Given the description of an element on the screen output the (x, y) to click on. 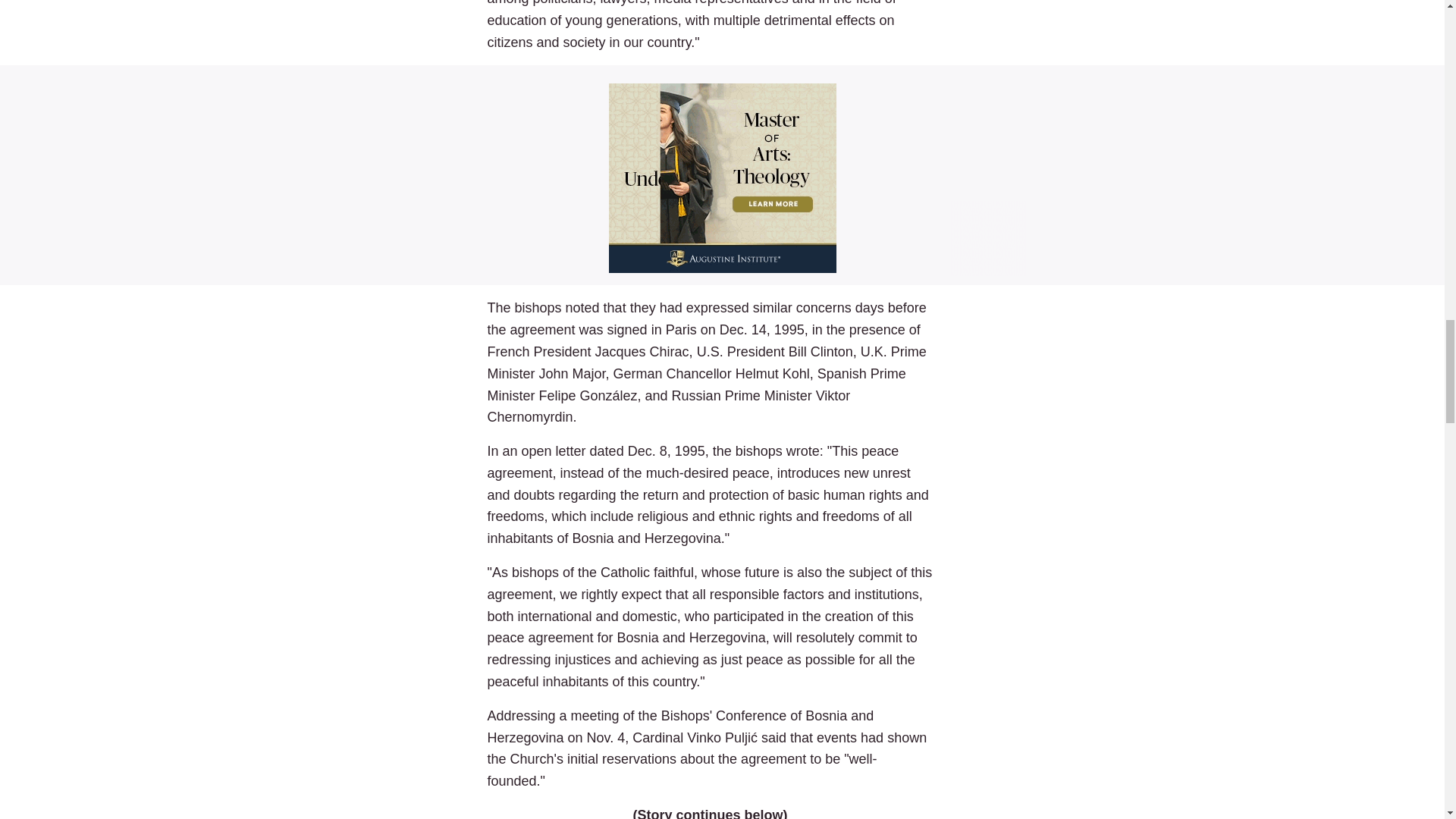
3rd party ad content (722, 175)
